Given the description of an element on the screen output the (x, y) to click on. 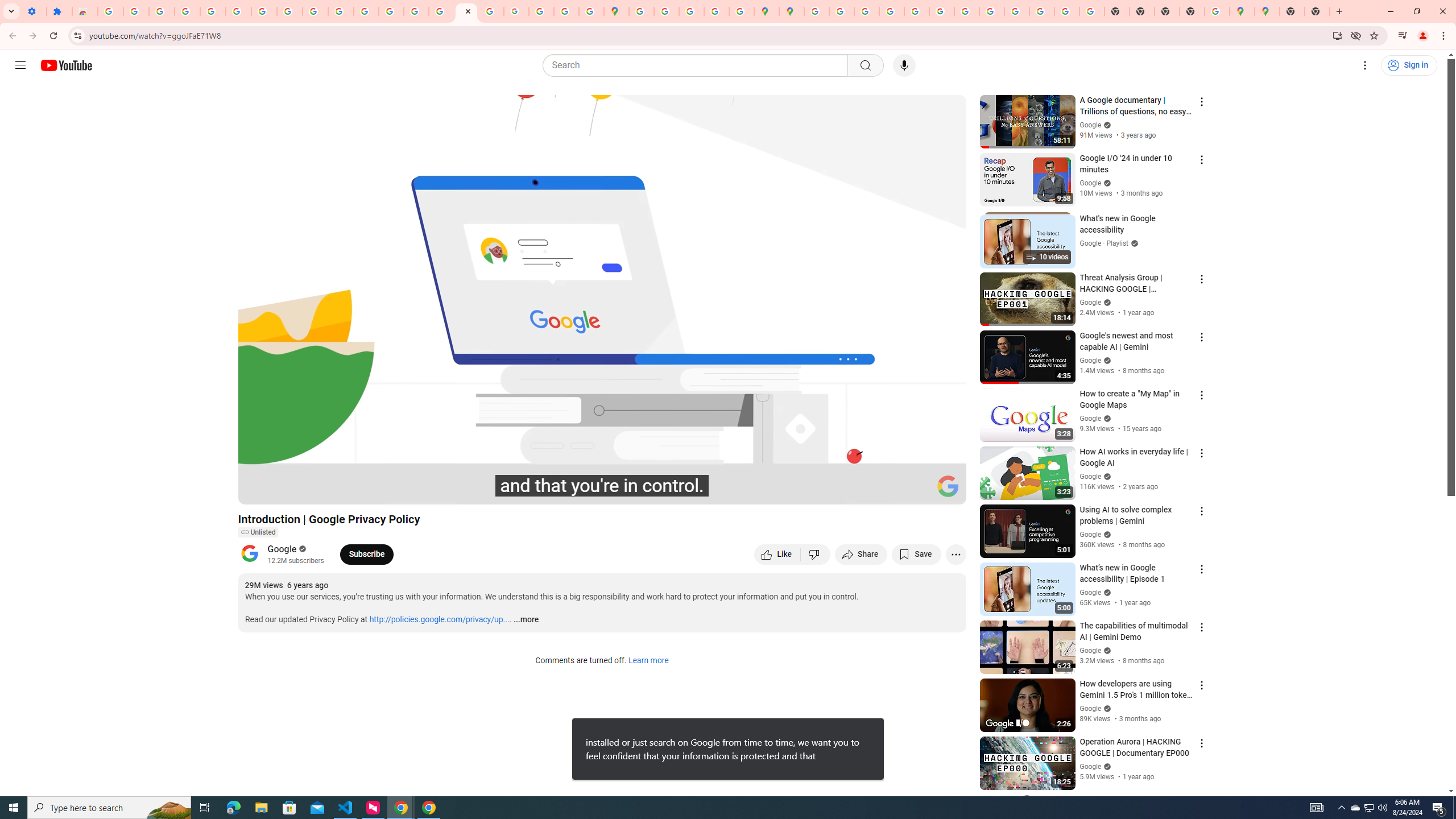
Privacy Help Center - Policies Help (865, 11)
Sign in - Google Accounts (213, 11)
Settings - On startup (34, 11)
